Given the description of an element on the screen output the (x, y) to click on. 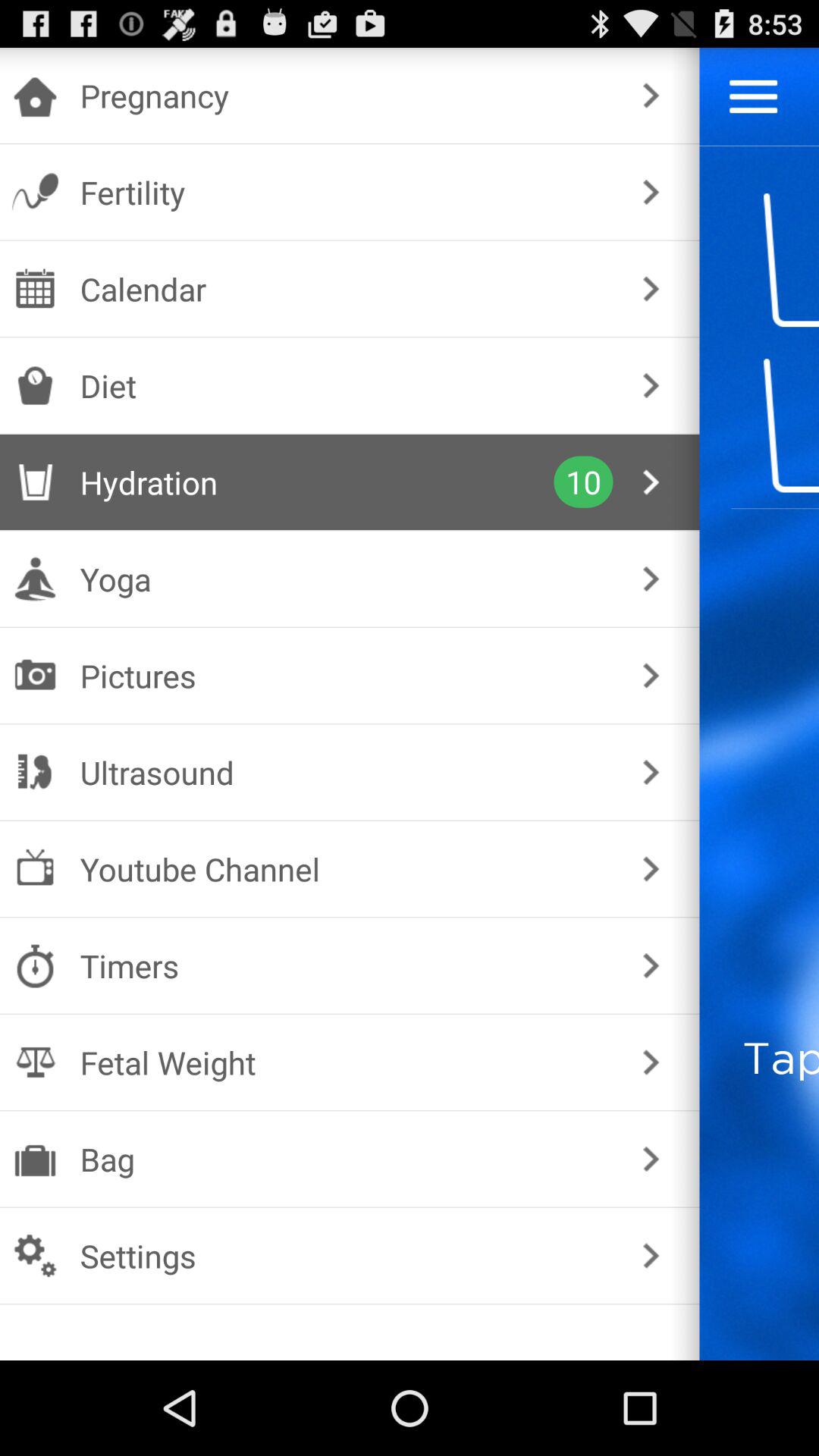
click to close menu (753, 96)
